Given the description of an element on the screen output the (x, y) to click on. 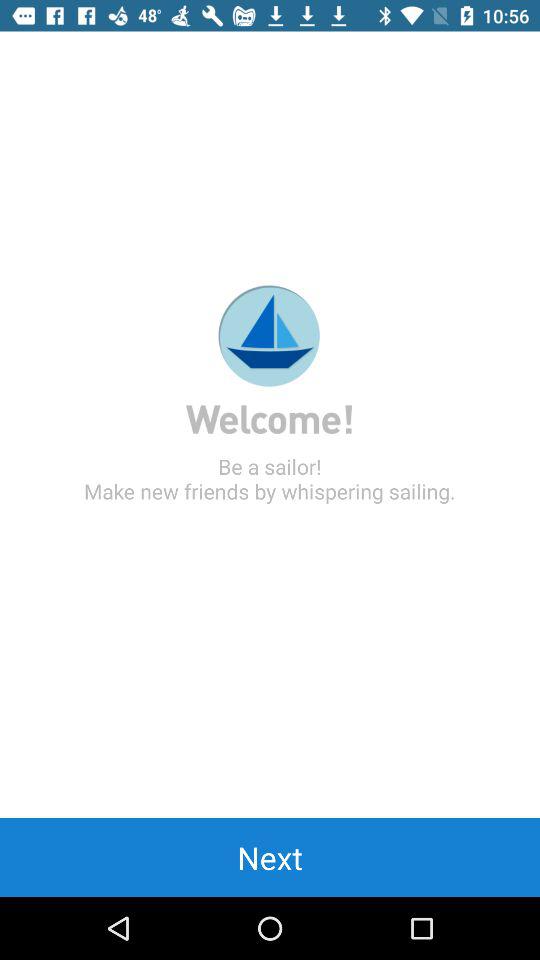
choose the next (270, 857)
